Given the description of an element on the screen output the (x, y) to click on. 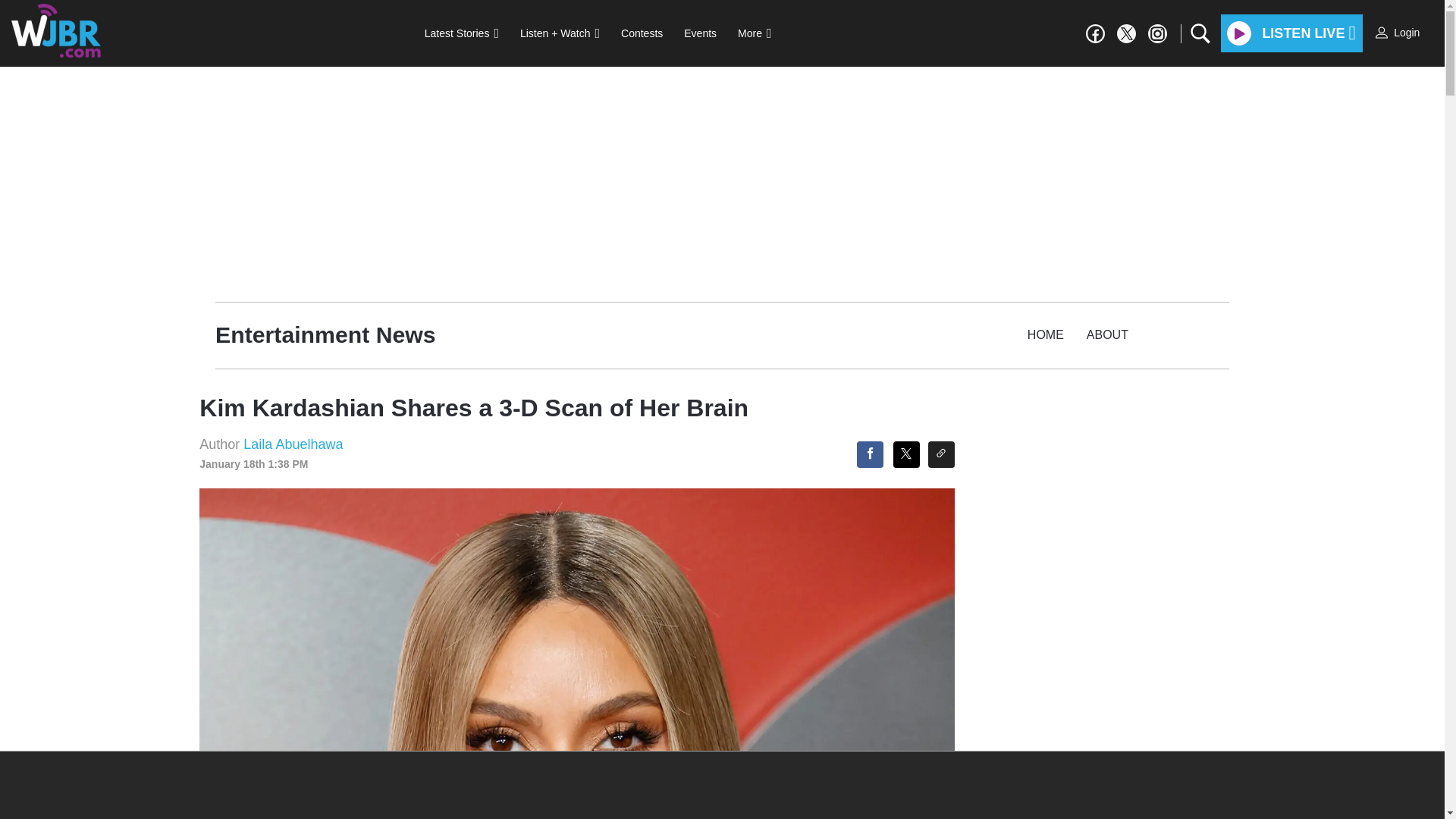
ABOUT (1106, 335)
Events (699, 33)
Latest Stories (461, 33)
Laila Abuelhawa (292, 444)
HOME (1045, 335)
Contests (641, 33)
Login (1397, 32)
More (753, 33)
